Given the description of an element on the screen output the (x, y) to click on. 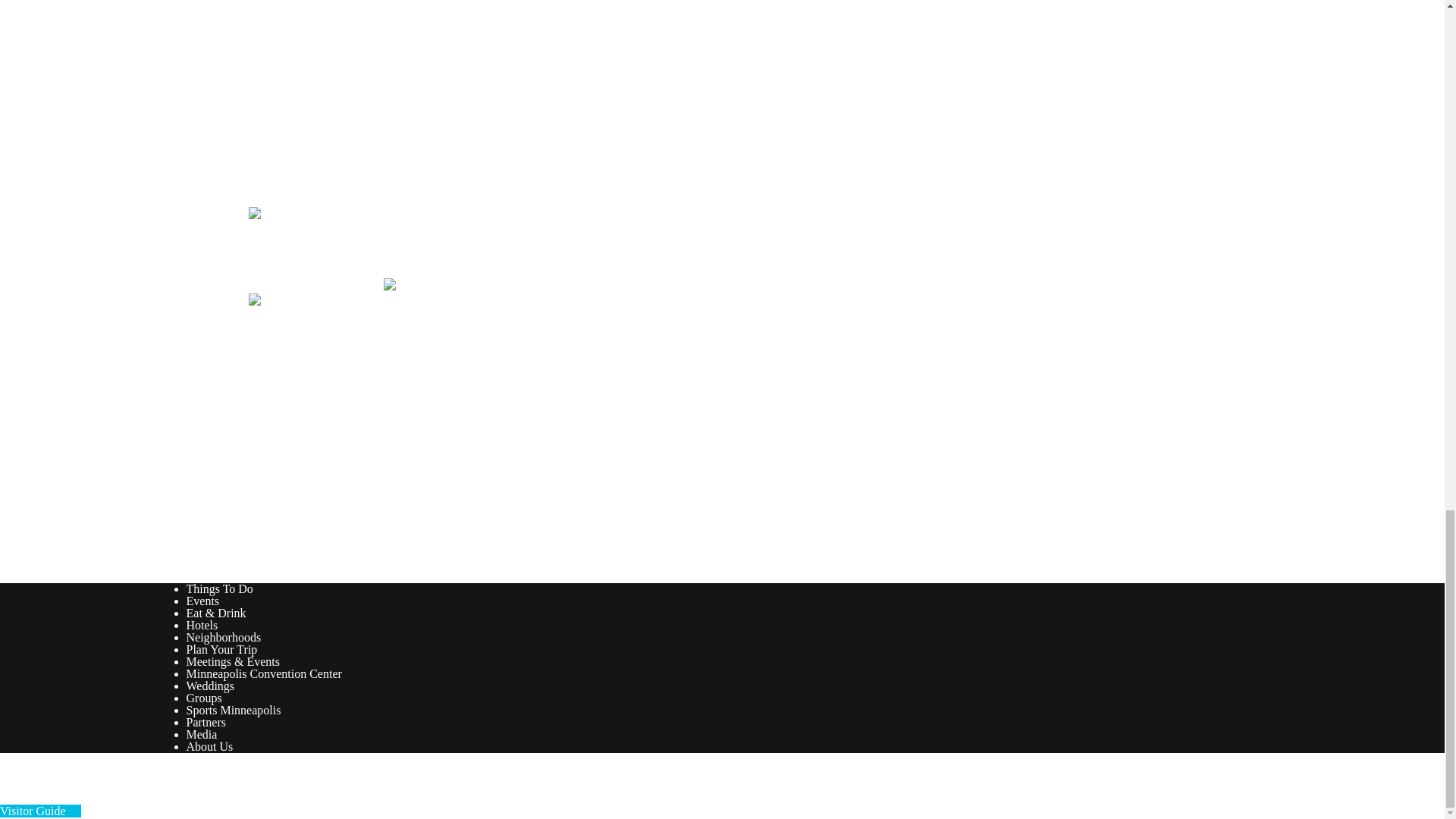
Land and Water Acknowledgment (330, 333)
MINNEAPOLIS CONVENTION CENTER (391, 529)
MEET MINNEAPOLIS (326, 381)
Things To Do (219, 588)
MEET MINNEAPOLIS VISITOR CENTER ON NICOLLET (449, 455)
